Given the description of an element on the screen output the (x, y) to click on. 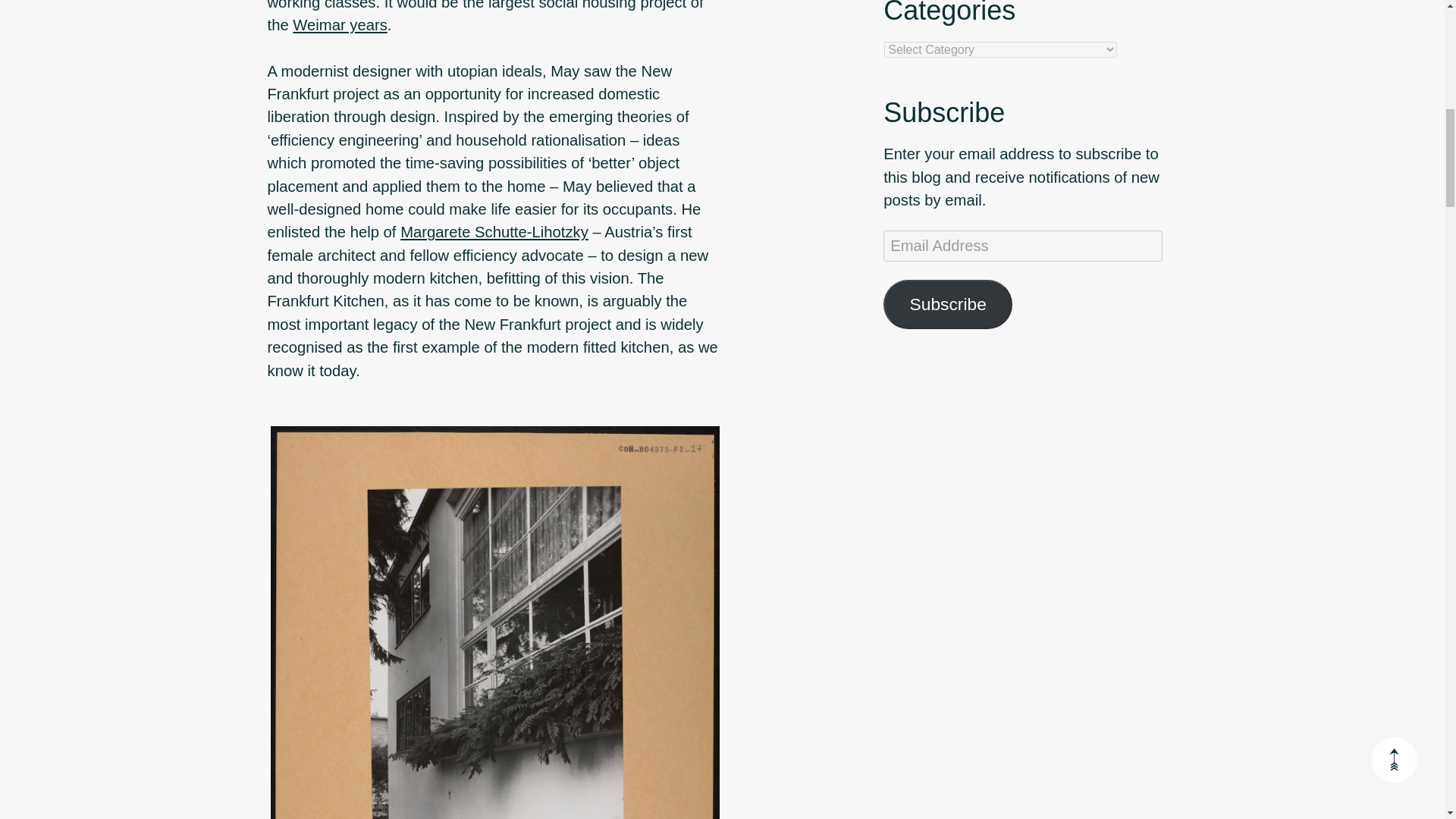
Subscribe (947, 304)
Weimar years (339, 24)
Margarete Schutte-Lihotzky (494, 231)
